Given the description of an element on the screen output the (x, y) to click on. 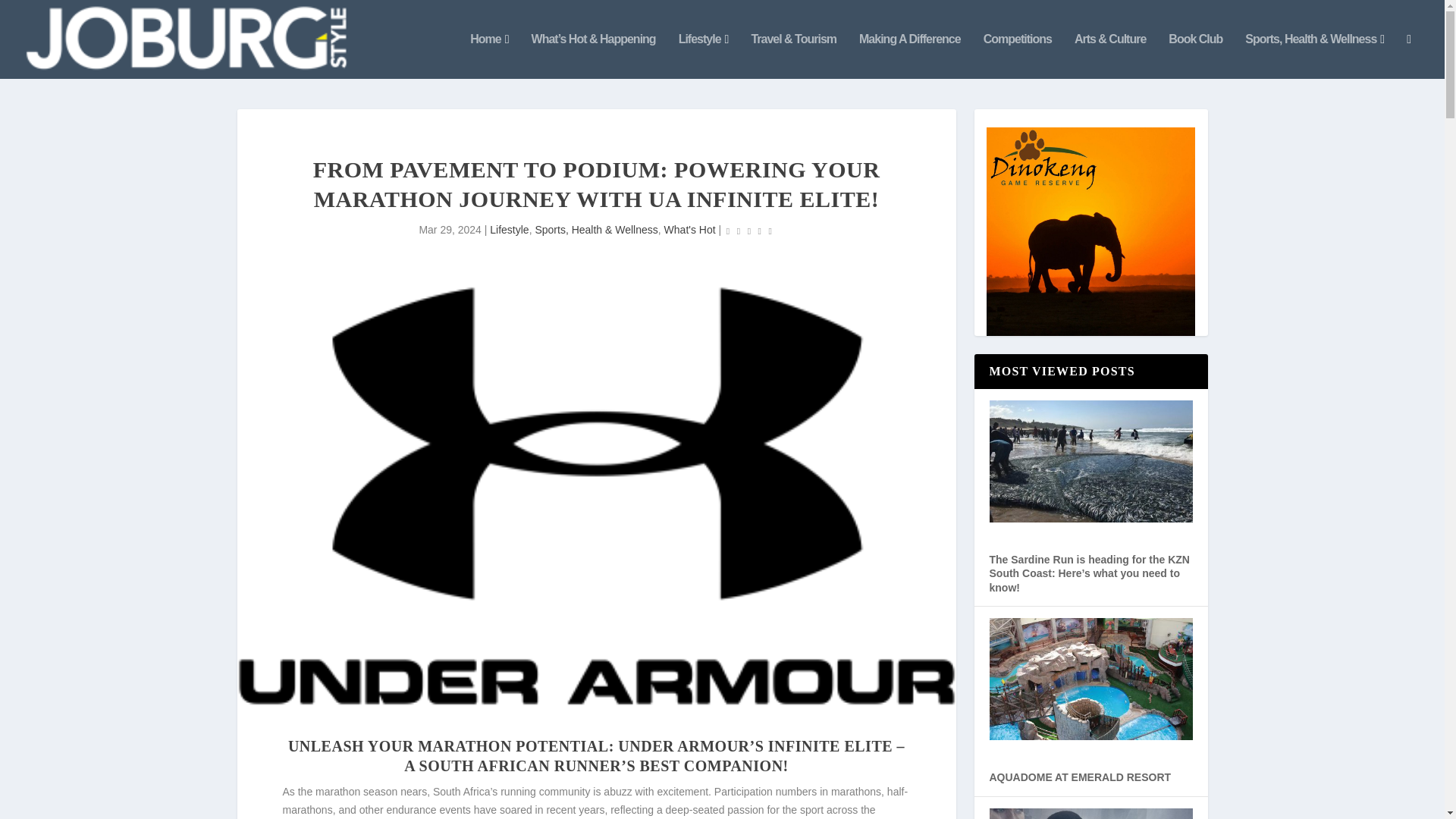
What's Hot (689, 229)
Rating: 0.00 (748, 230)
Making A Difference (909, 55)
Lifestyle (703, 55)
Book Club (1196, 55)
Lifestyle (508, 229)
Competitions (1017, 55)
